Given the description of an element on the screen output the (x, y) to click on. 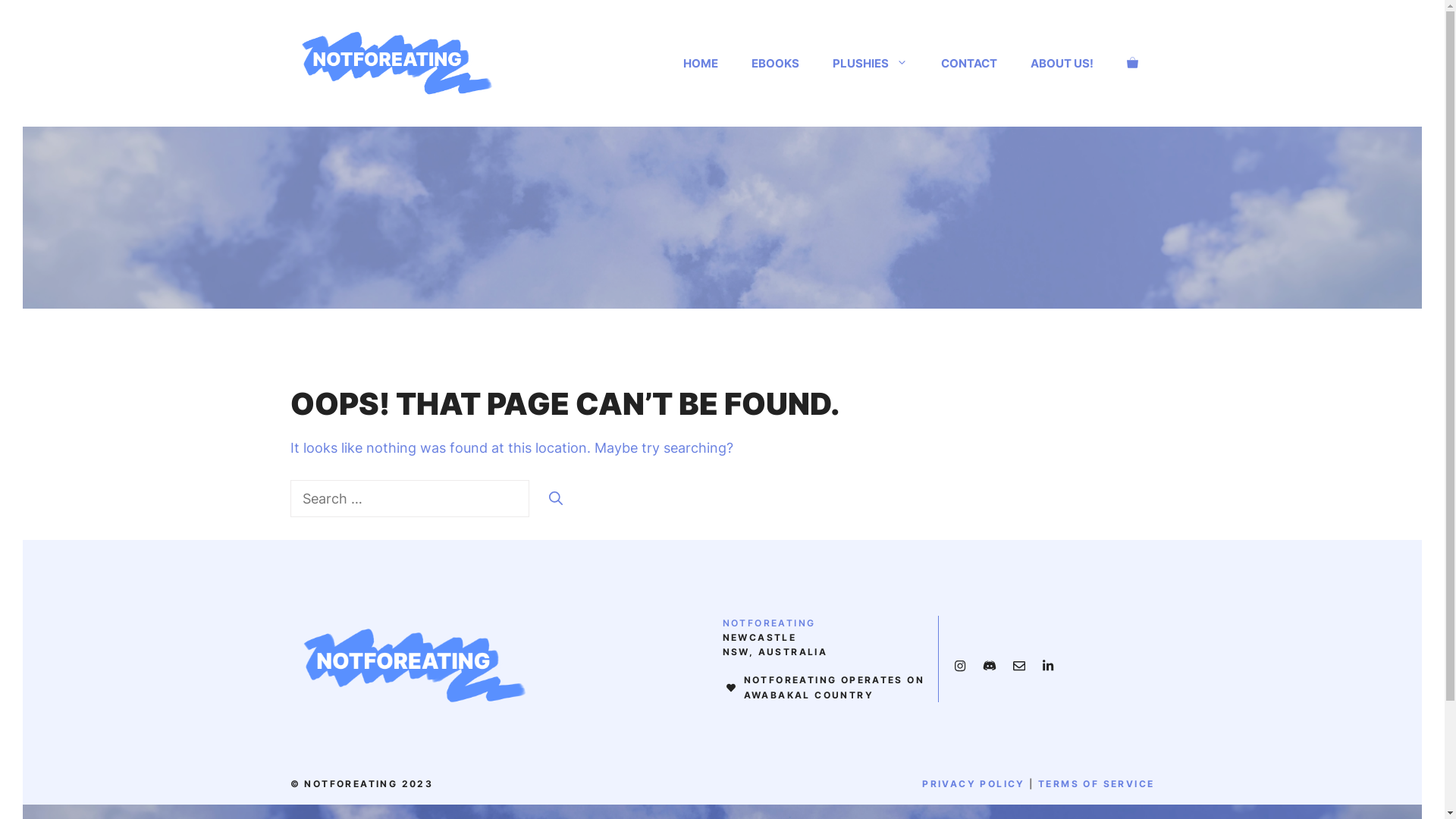
View your shopping cart Element type: hover (1132, 63)
PLUSHIES Element type: text (869, 63)
HOME Element type: text (699, 63)
TERMS OF SERVICE Element type: text (1096, 783)
Skip to content Element type: text (21, 21)
ABOUT US! Element type: text (1061, 63)
Search for: Element type: hover (408, 498)
PRIVACY POLICY Element type: text (973, 783)
EBOOKS Element type: text (774, 63)
CONTACT Element type: text (968, 63)
